Given the description of an element on the screen output the (x, y) to click on. 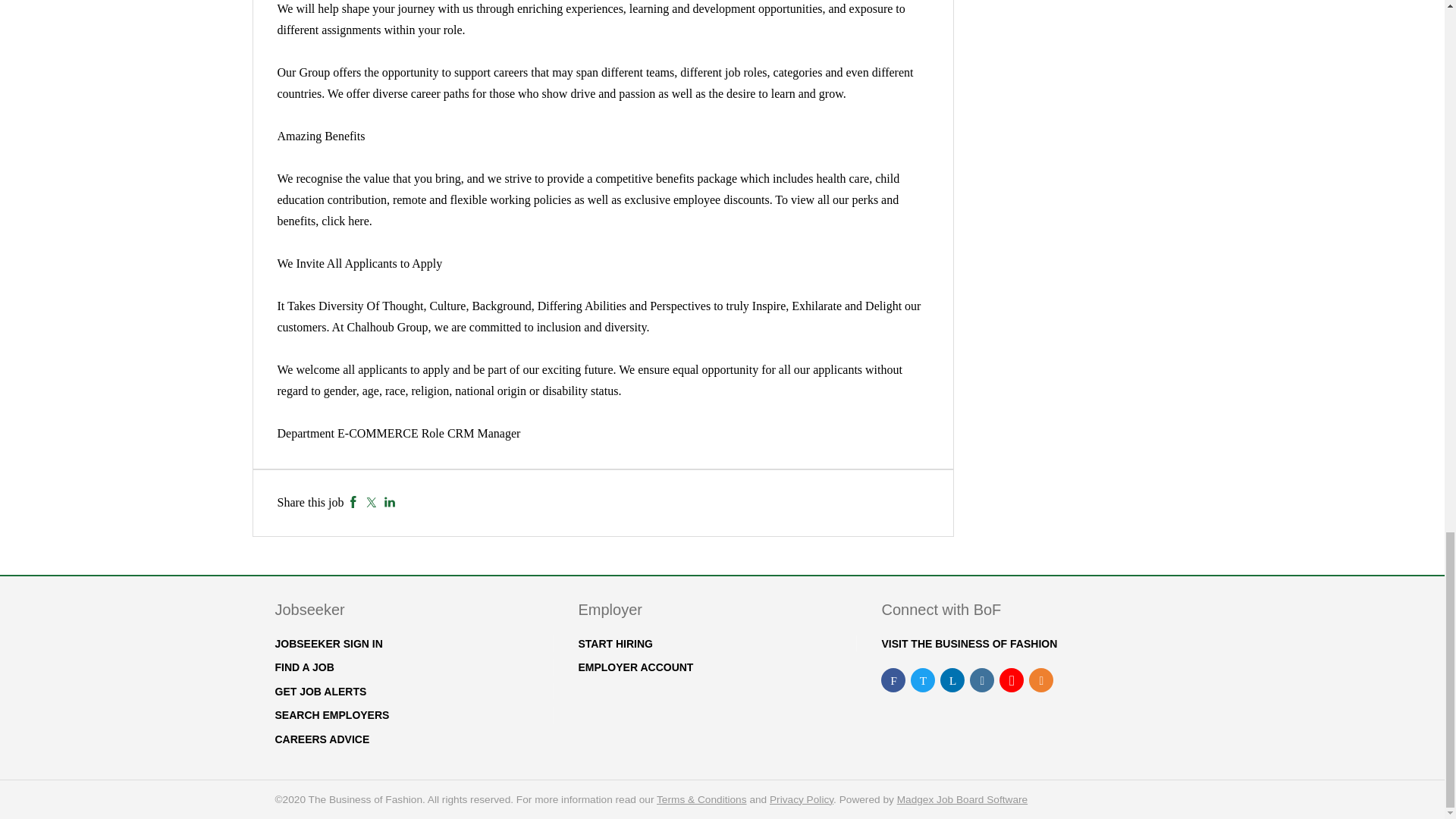
JOBSEEKER SIGN IN (328, 644)
Twitter (371, 502)
Facebook (353, 502)
SEARCH EMPLOYERS (331, 715)
LinkedIn (390, 502)
GET JOB ALERTS (320, 691)
FIND A JOB (304, 666)
